Given the description of an element on the screen output the (x, y) to click on. 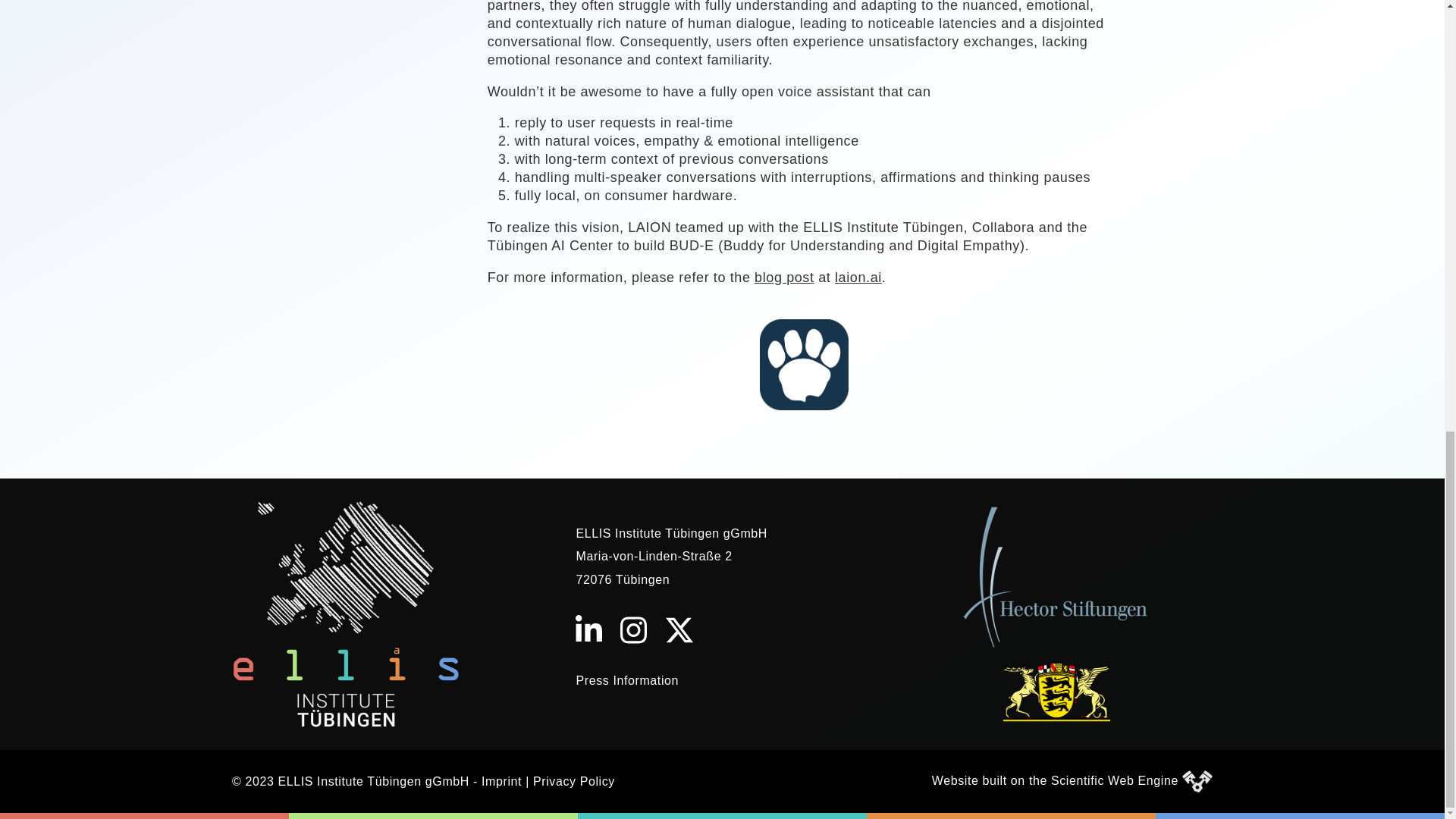
Press Information (626, 680)
laion.ai (858, 277)
Privacy Policy (573, 780)
Website built on the Scientific Web Engine (1054, 780)
blog post (783, 277)
Imprint (501, 780)
